Given the description of an element on the screen output the (x, y) to click on. 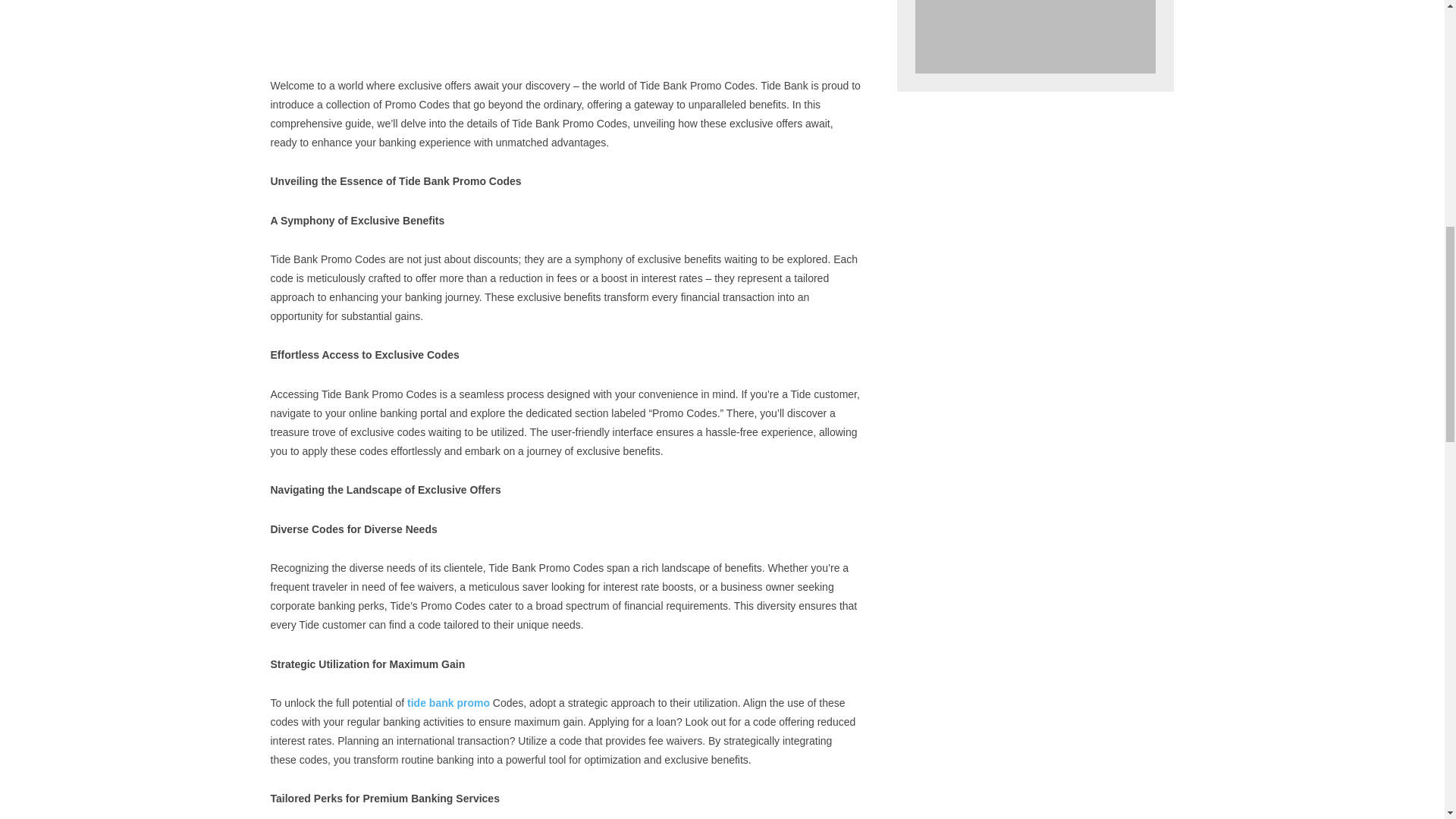
tide bank promo (448, 702)
